Given the description of an element on the screen output the (x, y) to click on. 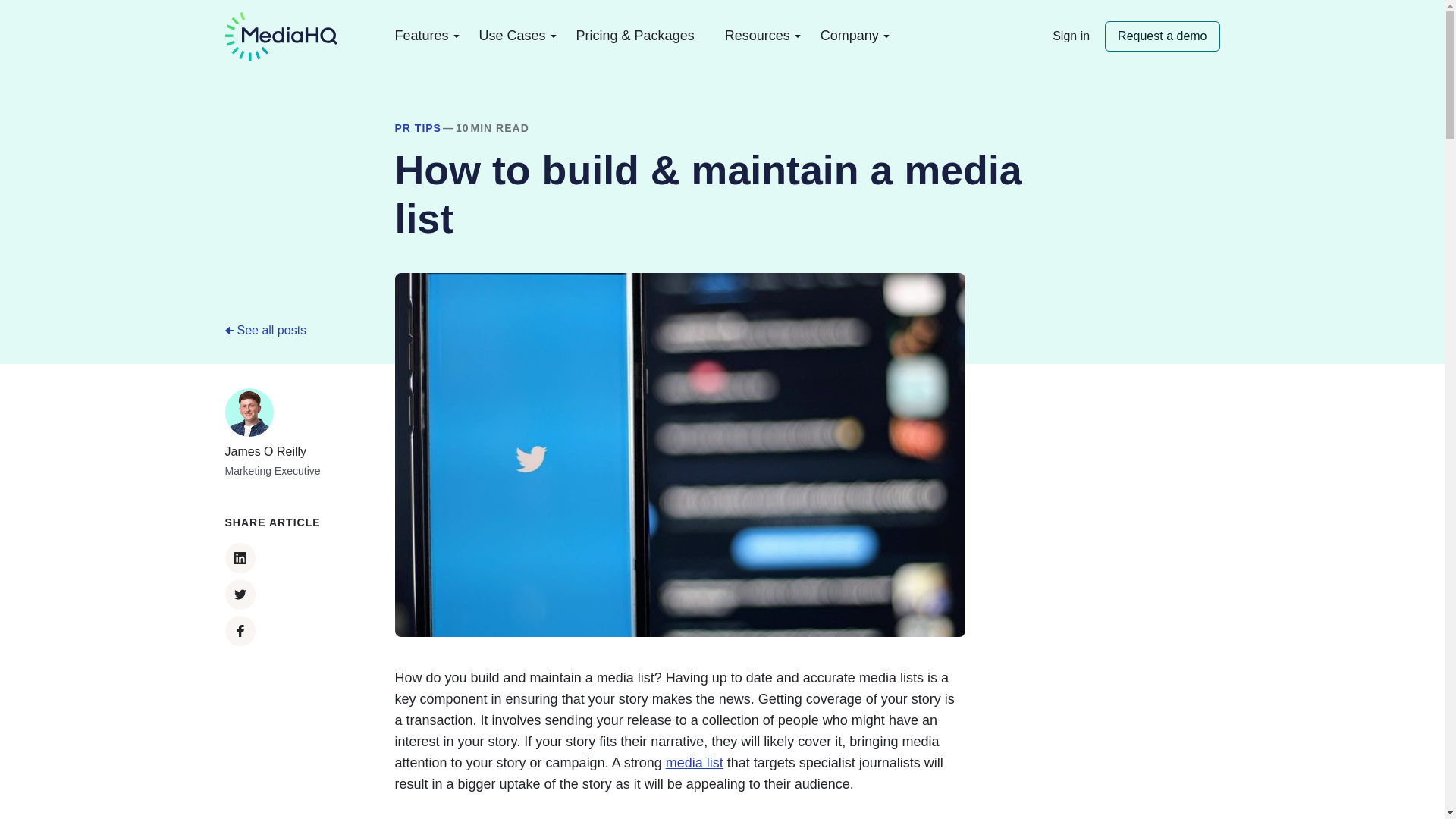
media list (694, 762)
Sign in (1070, 36)
Request a demo (1162, 36)
Back icon (228, 329)
Logo Twitter (239, 594)
Logo Linkedin (239, 558)
PR TIPS (417, 128)
Logo Facebook (239, 630)
Logo Facebook (239, 630)
Logo Twitter (239, 594)
